Given the description of an element on the screen output the (x, y) to click on. 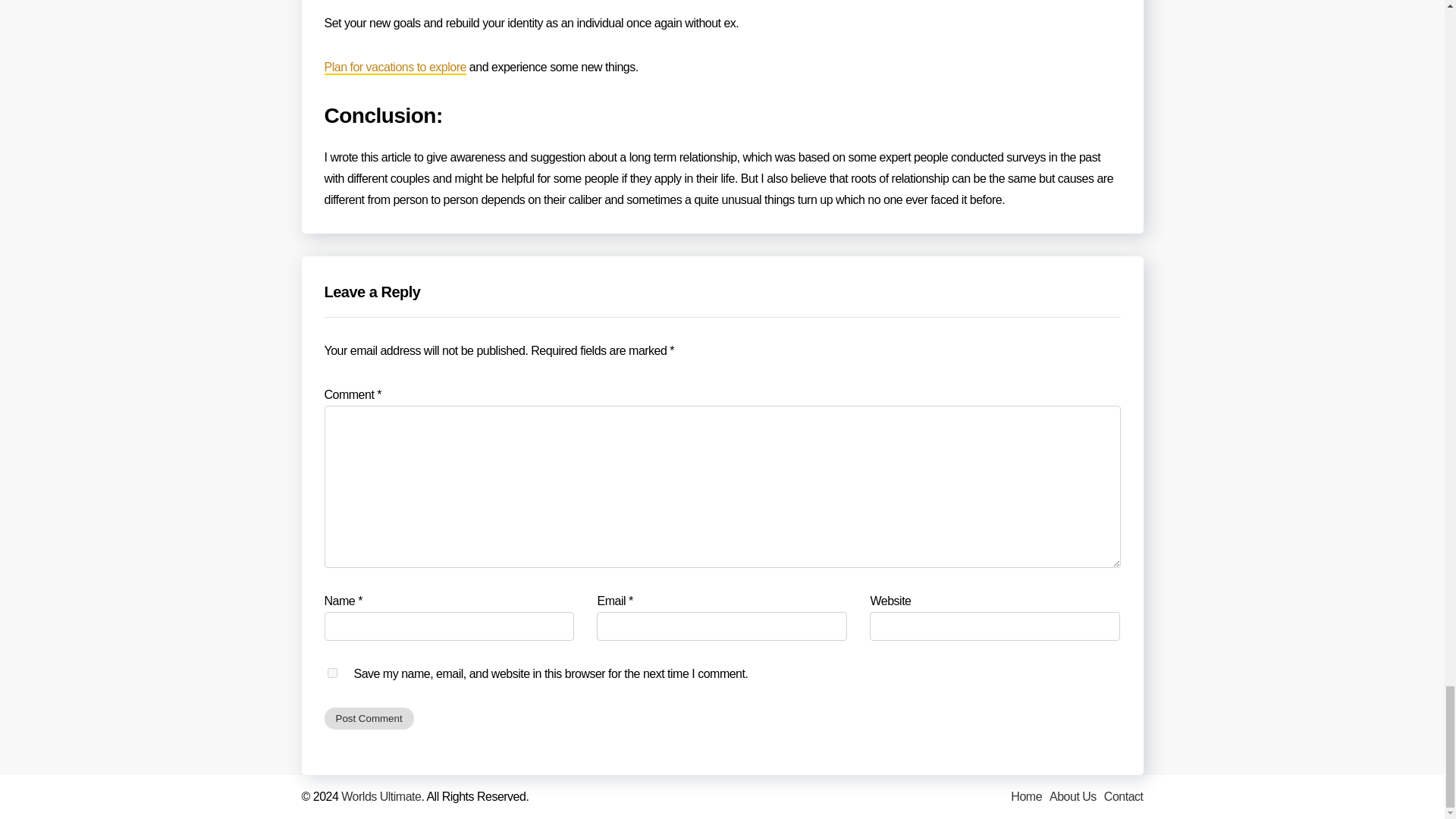
About Us (1072, 796)
yes (332, 673)
Post Comment (368, 718)
Home (1026, 796)
Plan for vacations to explore (394, 67)
Worlds Ultimate (380, 796)
Post Comment (368, 718)
